Given the description of an element on the screen output the (x, y) to click on. 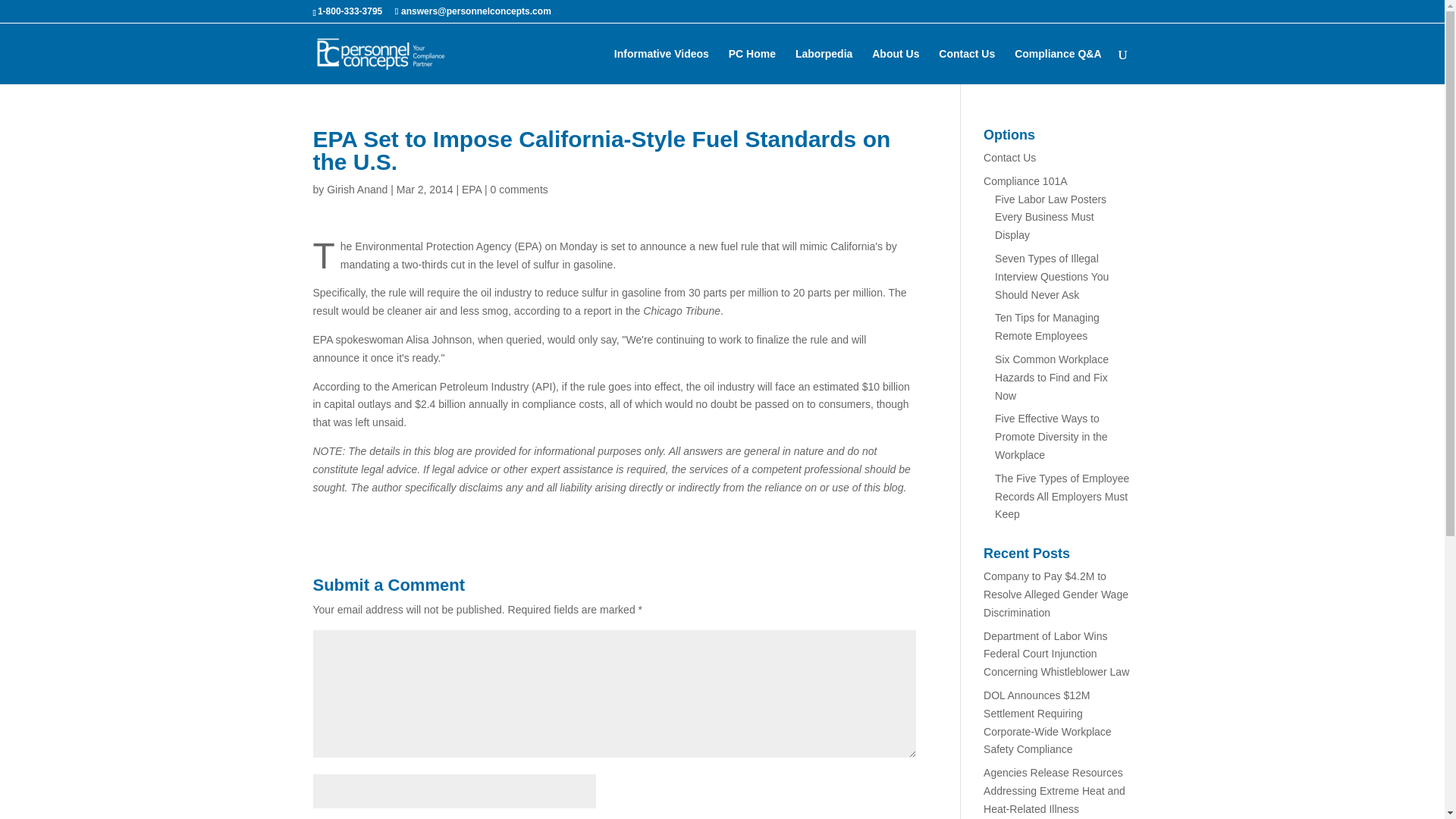
About Us (895, 66)
0 comments (519, 189)
Five Effective Ways to Promote Diversity in the Workplace (1051, 436)
EPA (471, 189)
Six Common Workplace Hazards to Find and Fix Now (1051, 377)
1-800-333-3795 (349, 10)
Posts by Girish Anand (356, 189)
Five Labor Law Posters Every Business Must Display (1050, 217)
Laborpedia (822, 66)
